Given the description of an element on the screen output the (x, y) to click on. 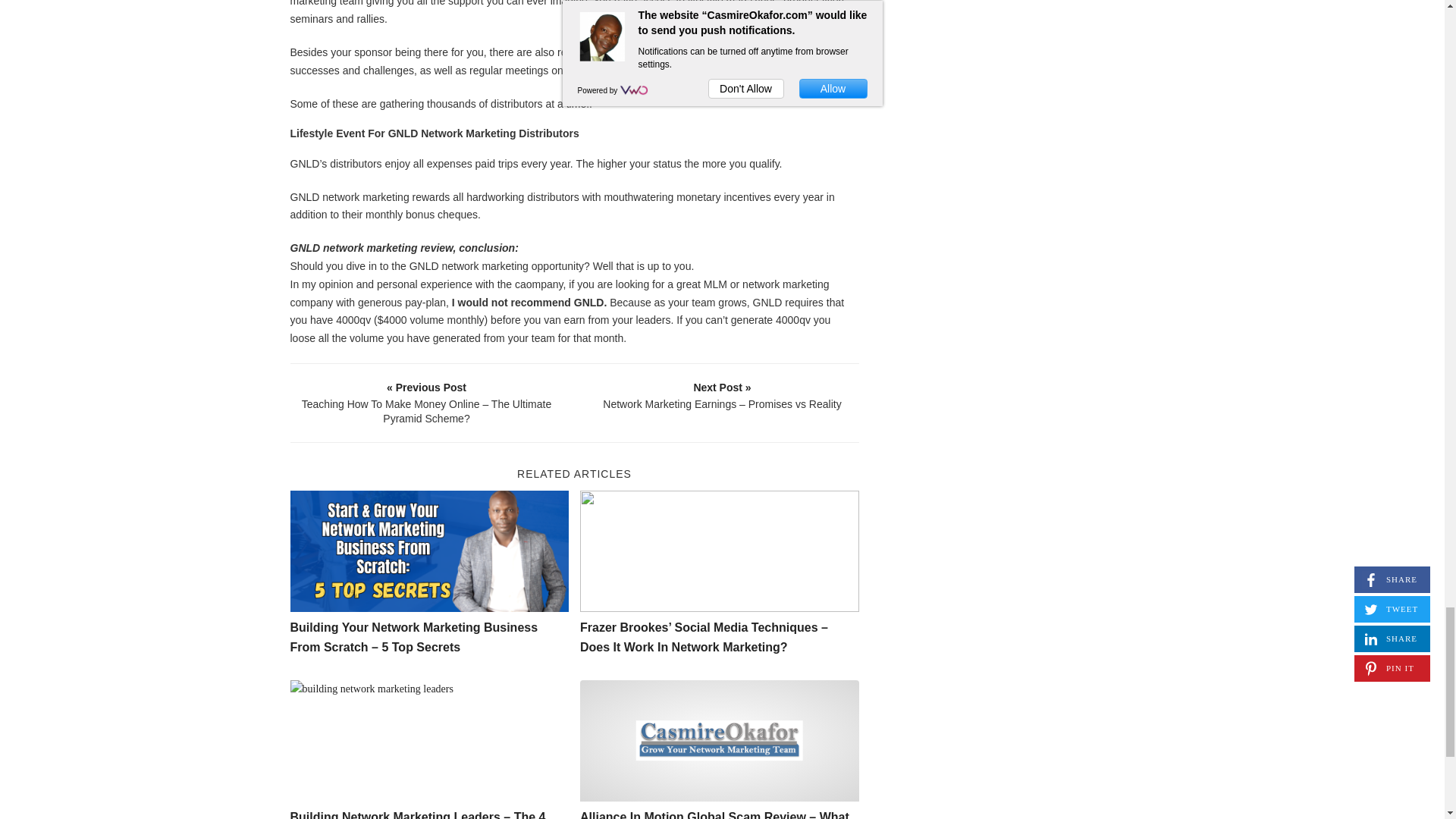
Casmire Okafor - MLM Coach In Nigeria (718, 740)
